Given the description of an element on the screen output the (x, y) to click on. 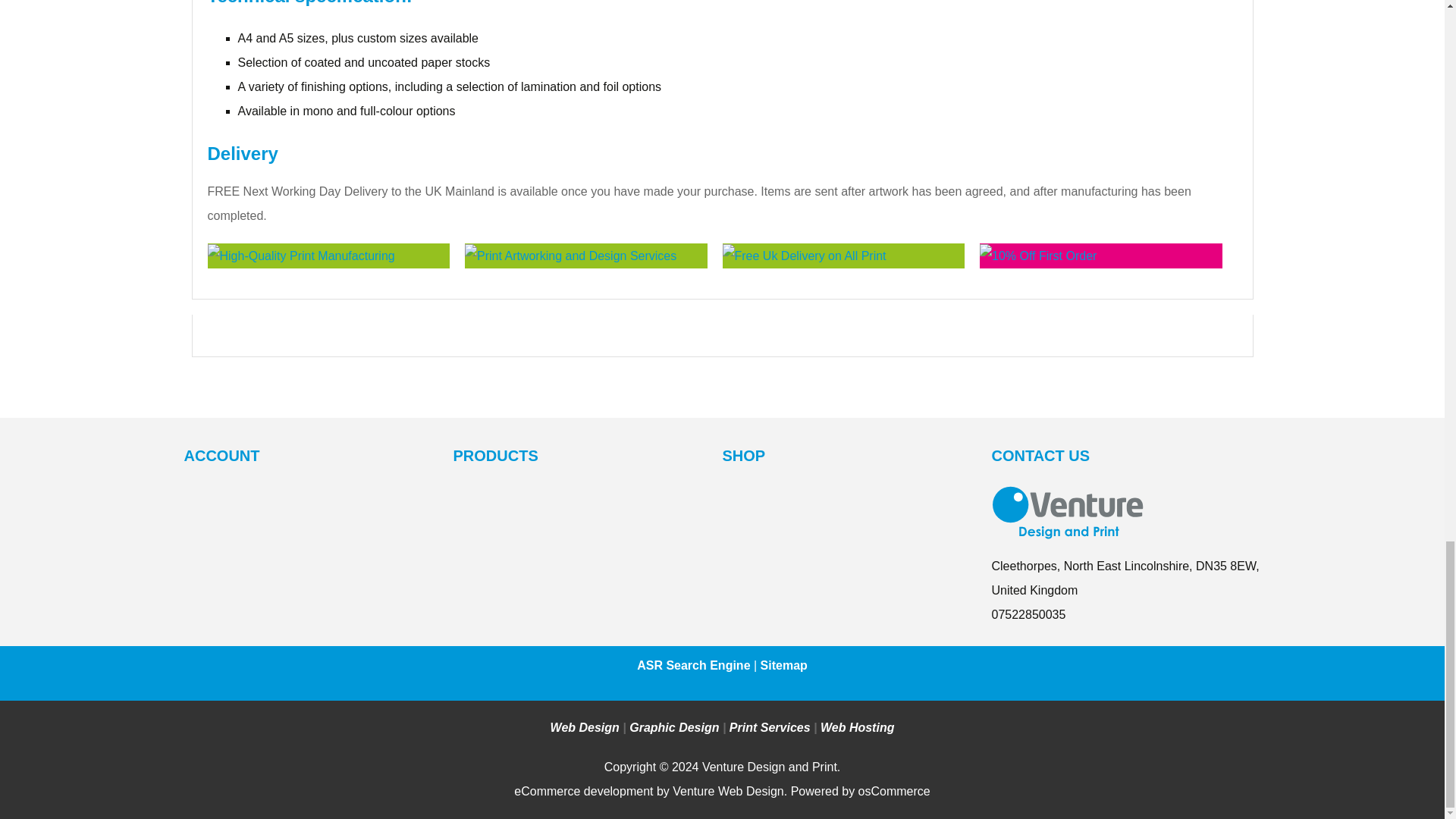
Sitemap (784, 665)
Print Services (769, 727)
Free Uk Delivery on All Print (803, 254)
High-Quality Print Manufacturing (301, 254)
Graphic Design (673, 727)
Print Artworking and Design Services (570, 254)
Web Design (585, 727)
